Given the description of an element on the screen output the (x, y) to click on. 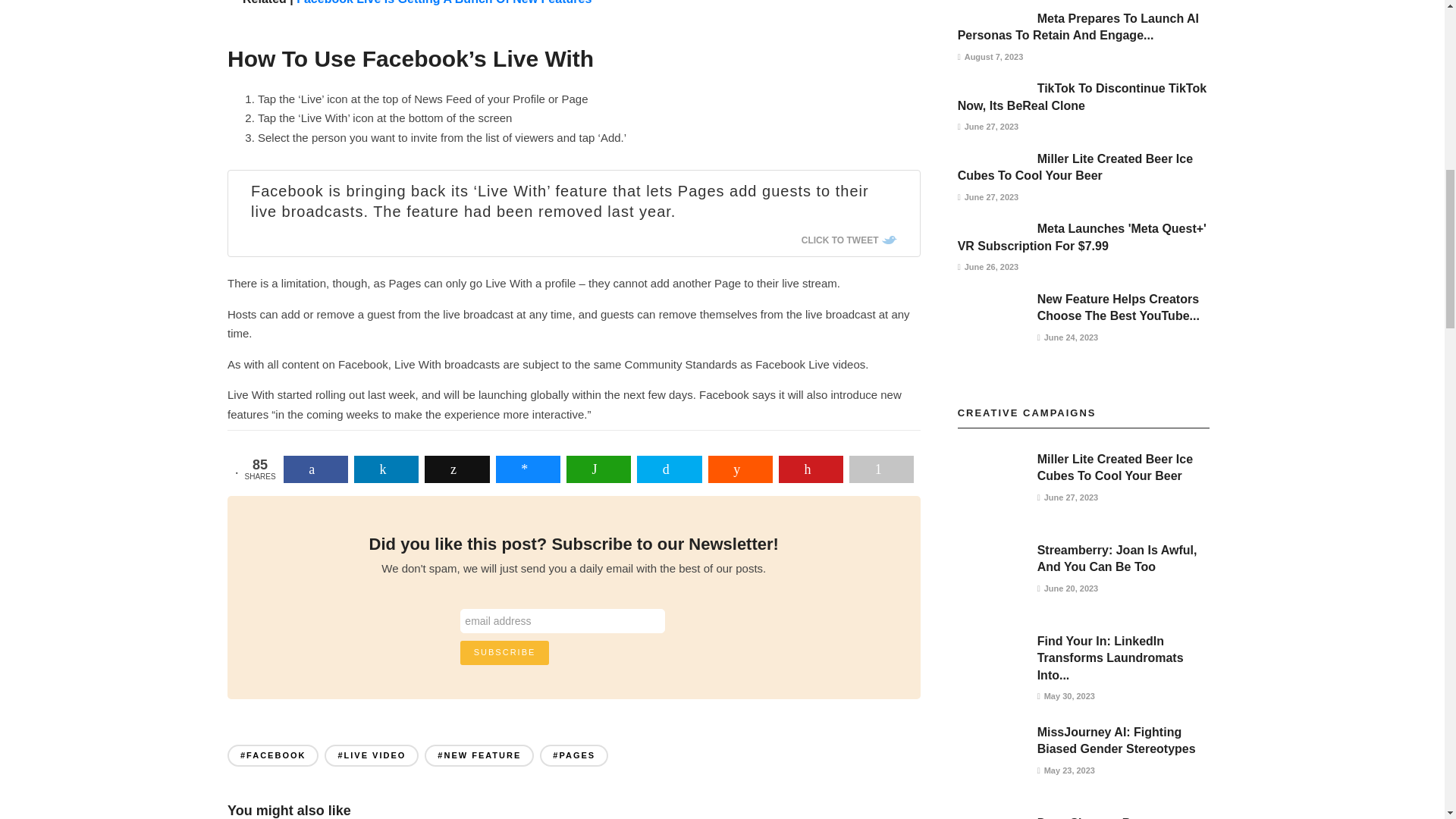
Subscribe (505, 652)
Share on LinkedIn (386, 469)
Share on Facebook (315, 469)
Share on Buffer (457, 469)
